Given the description of an element on the screen output the (x, y) to click on. 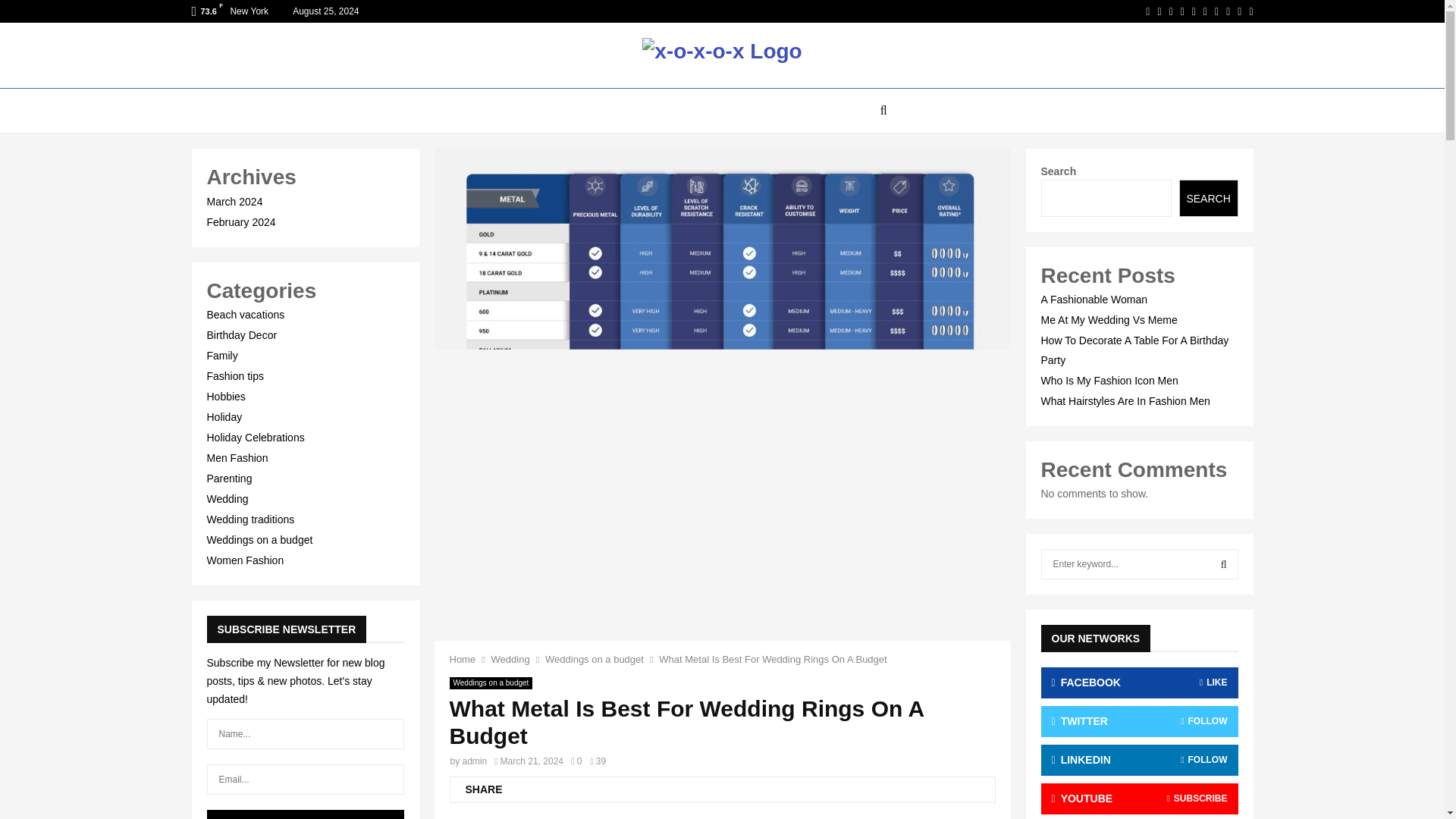
admin (475, 760)
Wedding (510, 659)
HOLIDAY (703, 110)
What Metal Is Best For Wedding Rings On A Budget (772, 659)
Weddings on a budget (490, 683)
Home (462, 659)
Subscribe (304, 814)
Weddings on a budget (593, 659)
0 (575, 760)
WEDDING (833, 110)
